Given the description of an element on the screen output the (x, y) to click on. 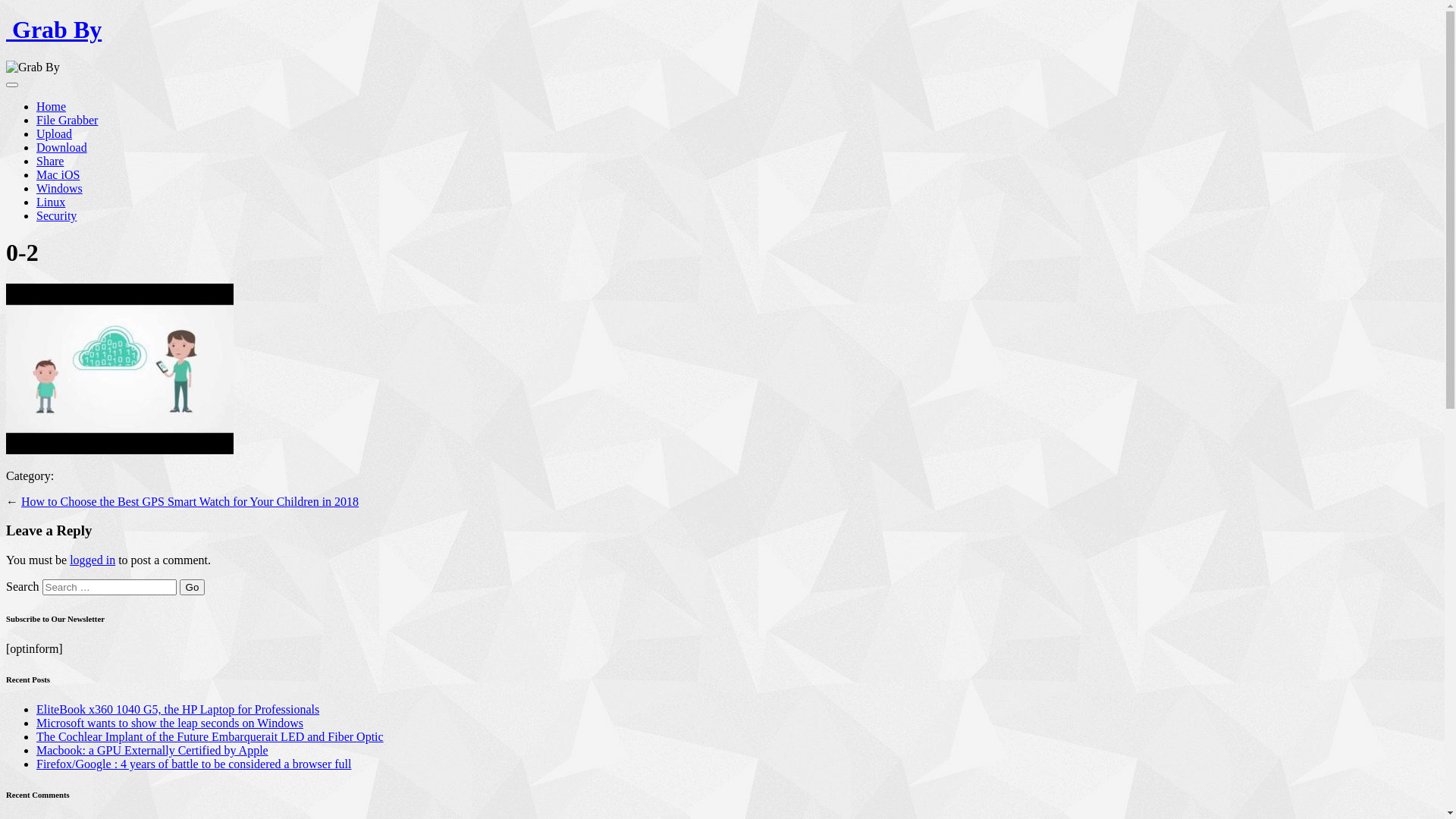
Share Element type: text (49, 160)
Upload Element type: text (54, 133)
Security Element type: text (56, 215)
Download Element type: text (61, 147)
Microsoft wants to show the leap seconds on Windows Element type: text (169, 722)
Windows Element type: text (59, 188)
Home Element type: text (50, 106)
Macbook: a GPU Externally Certified by Apple Element type: text (152, 749)
Go Element type: text (192, 587)
Mac iOS Element type: text (57, 174)
Linux Element type: text (50, 201)
Grab By Element type: text (53, 29)
File Grabber Element type: text (66, 119)
logged in Element type: text (92, 559)
EliteBook x360 1040 G5, the HP Laptop for Professionals Element type: text (177, 708)
